Given the description of an element on the screen output the (x, y) to click on. 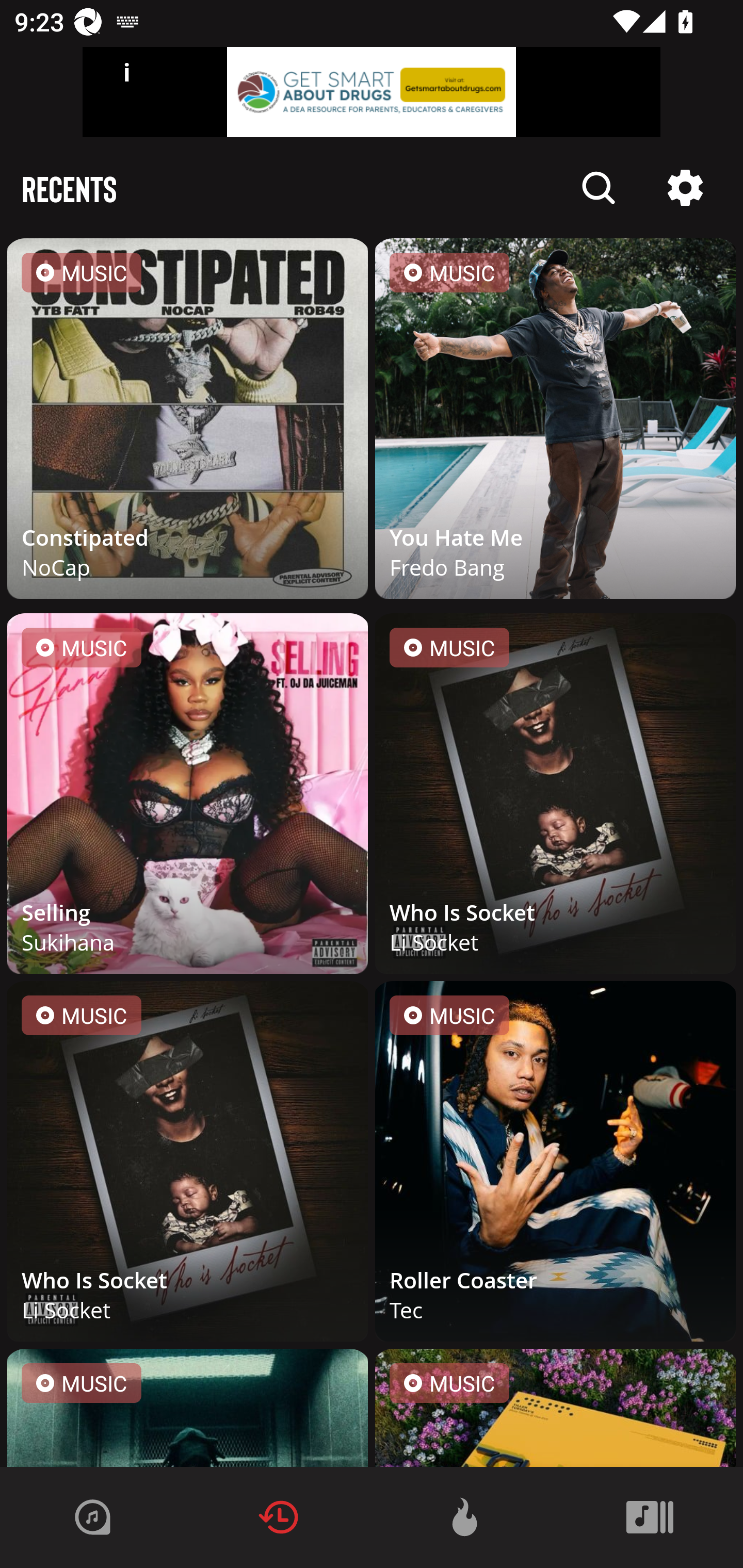
Description (598, 188)
Description (684, 188)
MUSIC Constipated NoCap (187, 422)
MUSIC You Hate Me Fredo Bang (555, 422)
MUSIC Selling Sukihana (187, 797)
MUSIC Who Is Socket Li Socket (555, 797)
MUSIC Who Is Socket Li Socket (187, 1164)
MUSIC Roller Coaster Tec (555, 1164)
